Given the description of an element on the screen output the (x, y) to click on. 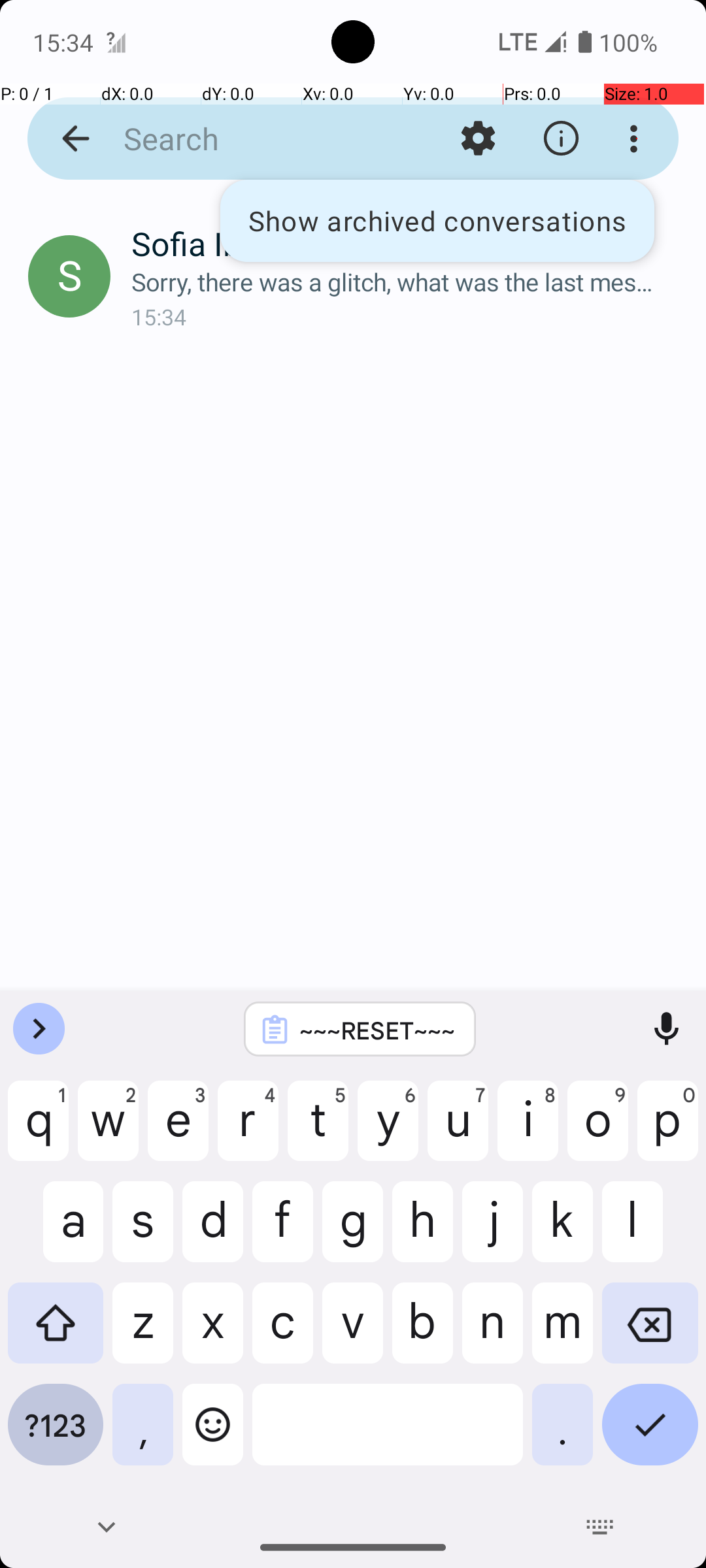
Show archived conversations Element type: android.widget.TextView (436, 220)
